Given the description of an element on the screen output the (x, y) to click on. 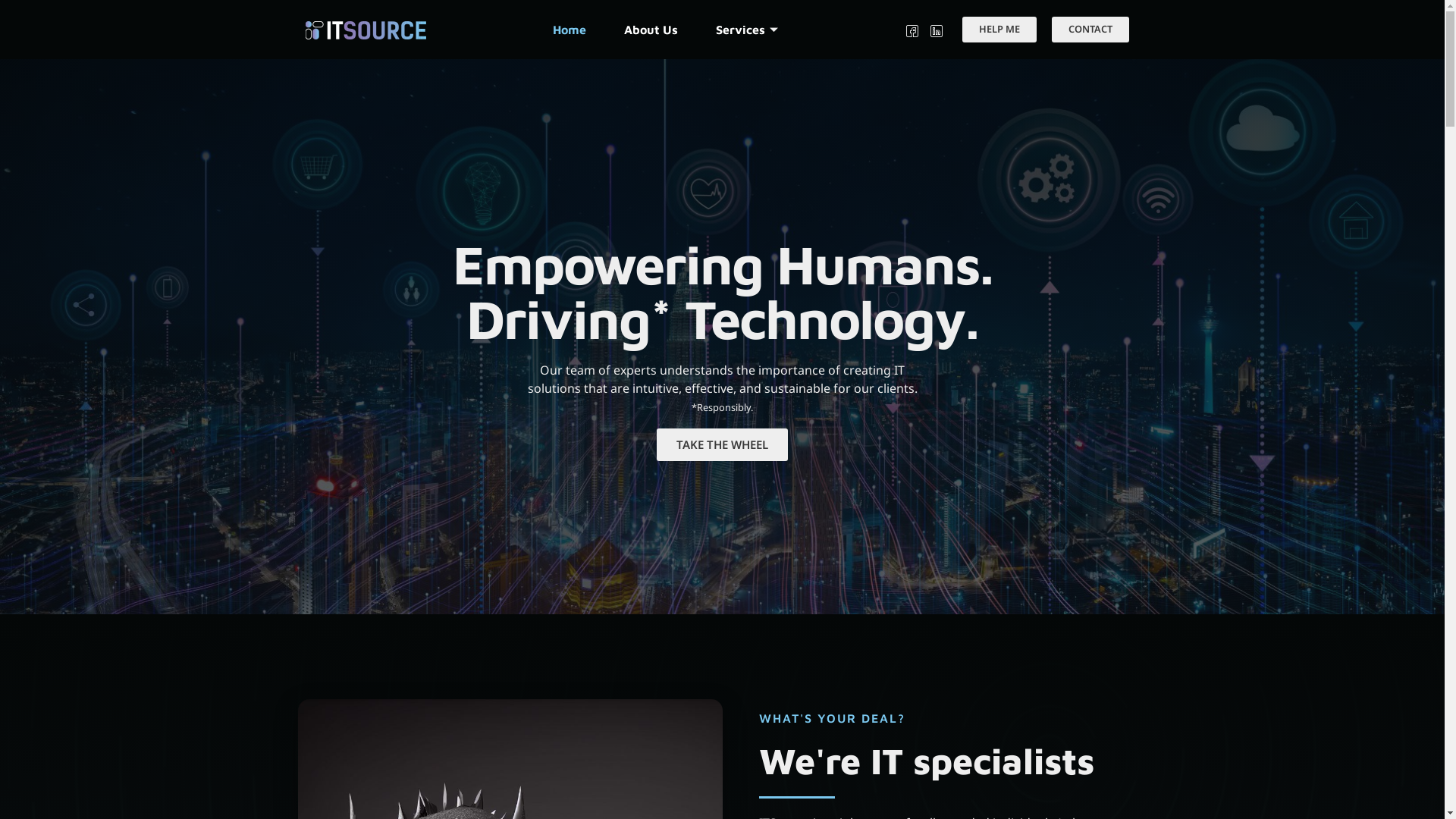
Services Element type: text (748, 29)
CONTACT Element type: text (1090, 28)
About Us Element type: text (650, 29)
TAKE THE WHEEL Element type: text (721, 444)
ITSource Element type: hover (364, 30)
Home Element type: text (569, 29)
HELP ME Element type: text (999, 28)
